Given the description of an element on the screen output the (x, y) to click on. 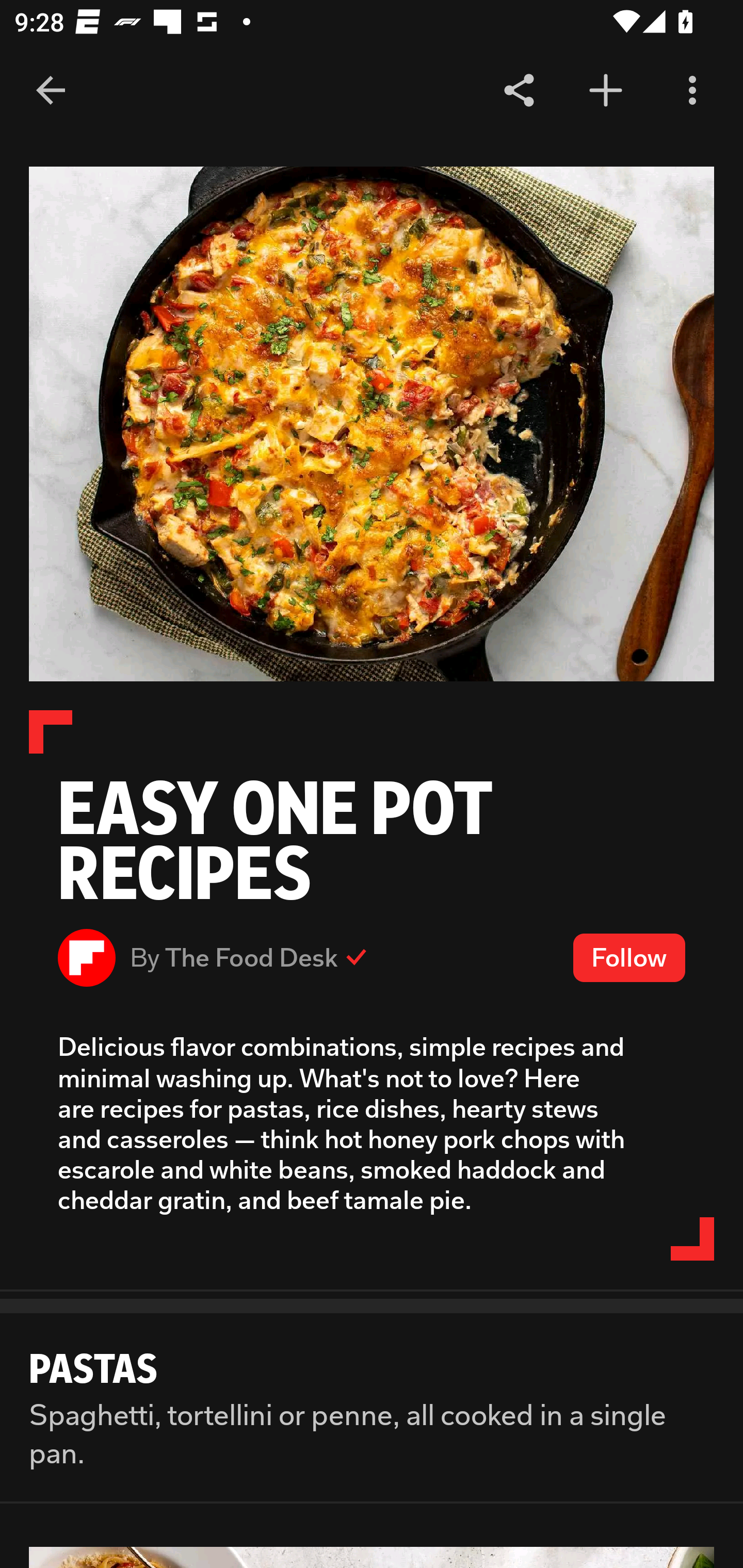
Back (50, 90)
Share (518, 90)
Flip into Magazine (605, 90)
Options (692, 90)
By The Food Desk Follow (371, 957)
Follow (629, 956)
